Given the description of an element on the screen output the (x, y) to click on. 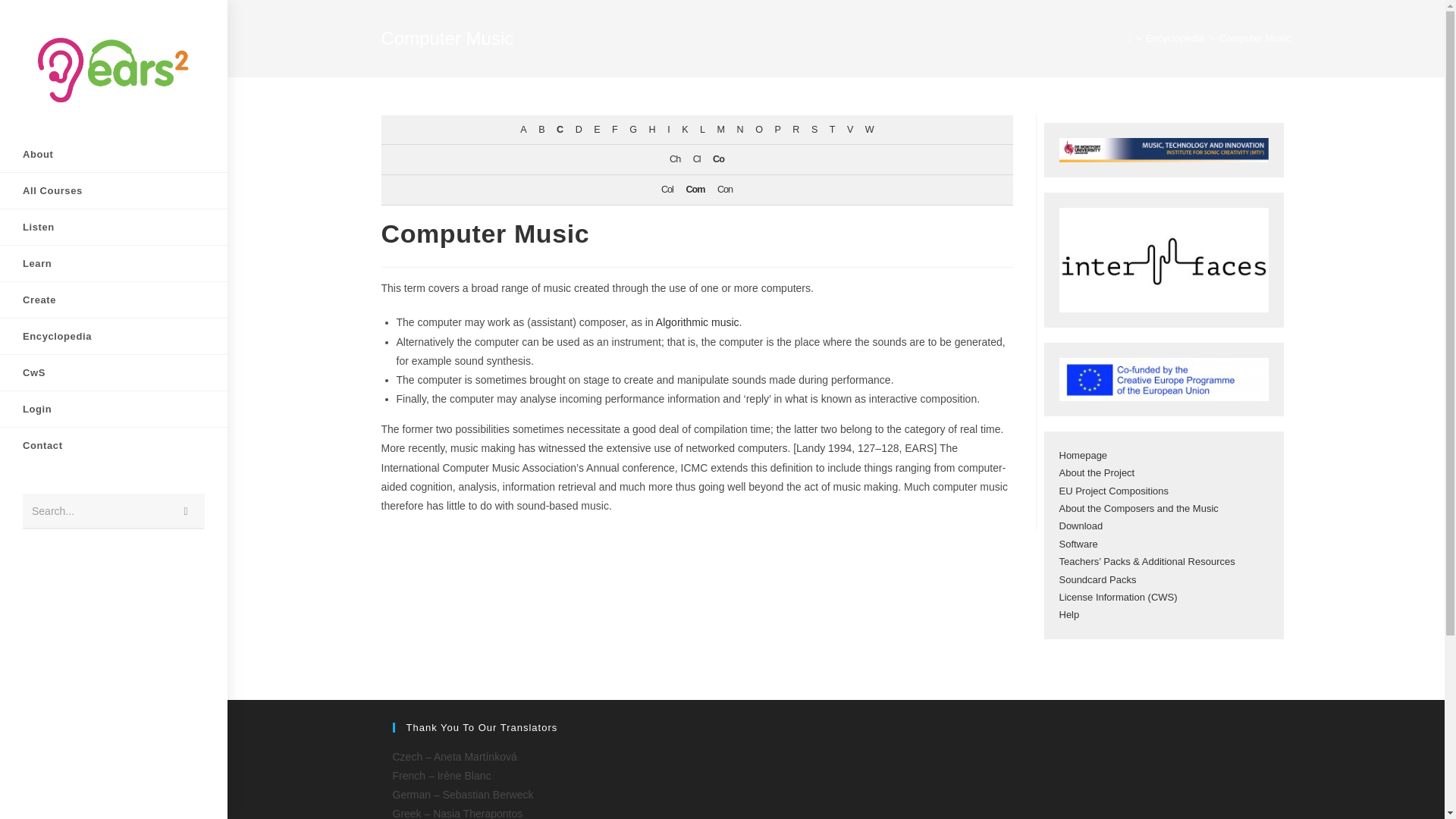
Contact (113, 445)
Create (113, 299)
About (113, 153)
Listen (113, 226)
Submit search (186, 511)
Login (113, 408)
Computer Music (1255, 38)
All Courses (113, 190)
Encyclopedia (1174, 38)
Learn (113, 263)
Encyclopedia (113, 335)
CwS (113, 372)
